Given the description of an element on the screen output the (x, y) to click on. 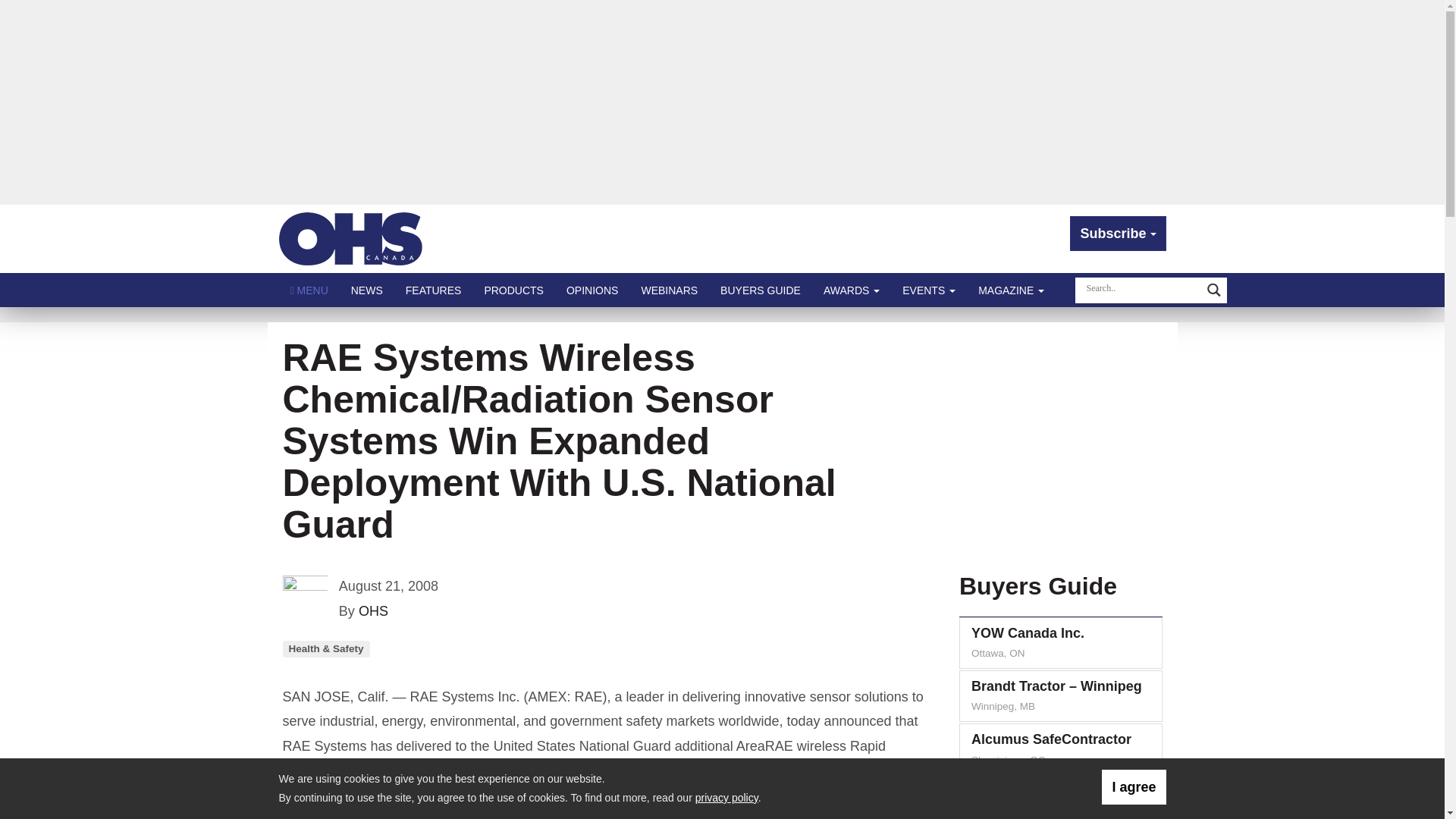
Click to show site navigation (309, 289)
PRODUCTS (512, 289)
FEATURES (433, 289)
Subscribe (1118, 233)
3rd party ad content (1057, 442)
OPINIONS (591, 289)
MENU (309, 289)
NEWS (366, 289)
WEBINARS (668, 289)
BUYERS GUIDE (760, 289)
EVENTS (928, 289)
AWARDS (851, 289)
OHS Canada Magazine (351, 237)
MAGAZINE (1010, 289)
